Given the description of an element on the screen output the (x, y) to click on. 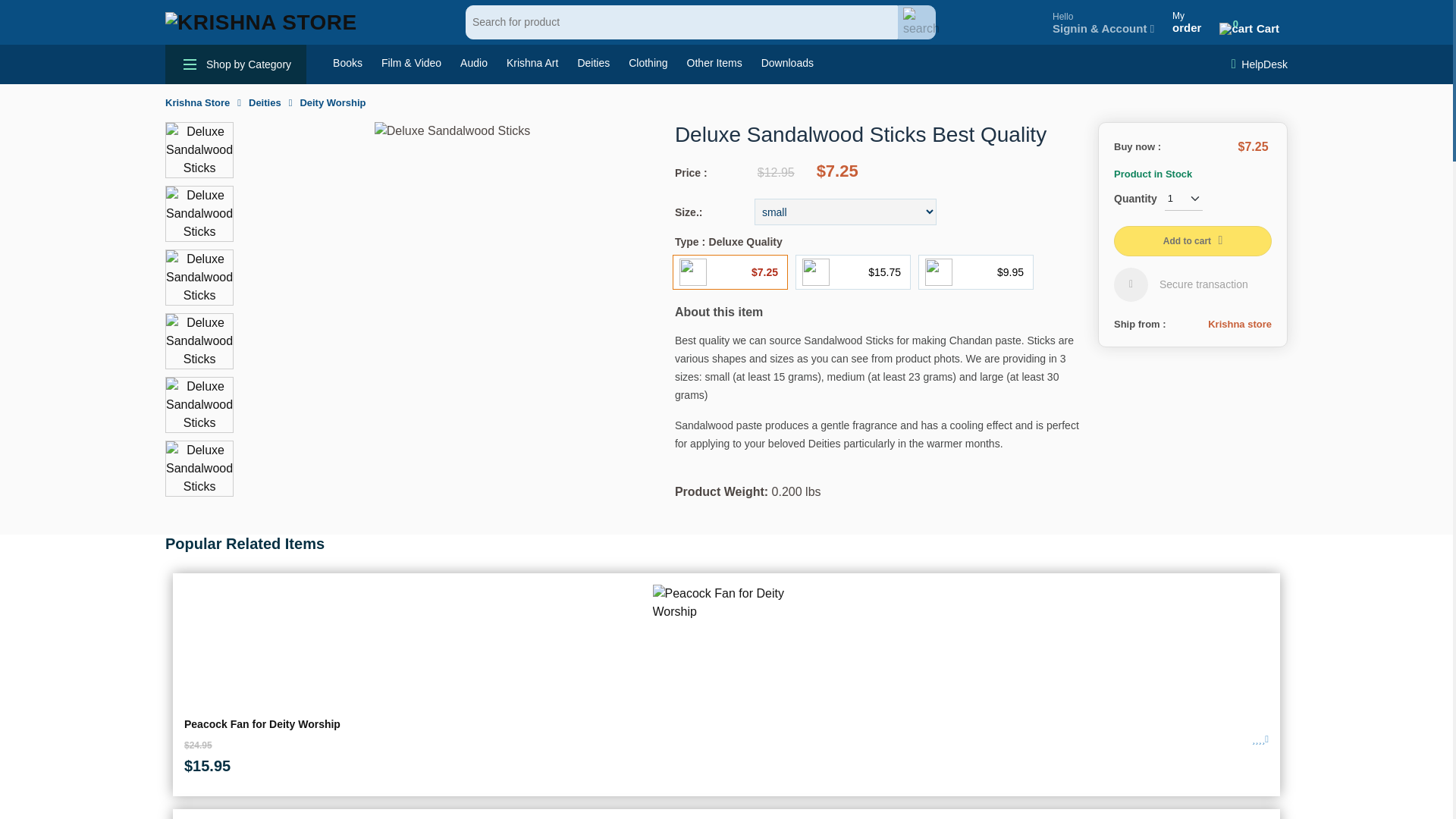
 Deluxe Sandalwood Sticks  (198, 276)
 Deluxe Sandalwood Sticks  (198, 149)
 Deluxe Sandalwood Sticks  (451, 131)
 Krishna Store  (260, 22)
4.72 out of 5 (1260, 738)
 Deluxe Sandalwood Sticks  (198, 403)
 Deluxe Sandalwood Sticks  (198, 340)
 Deluxe Sandalwood Sticks  (1249, 21)
